Given the description of an element on the screen output the (x, y) to click on. 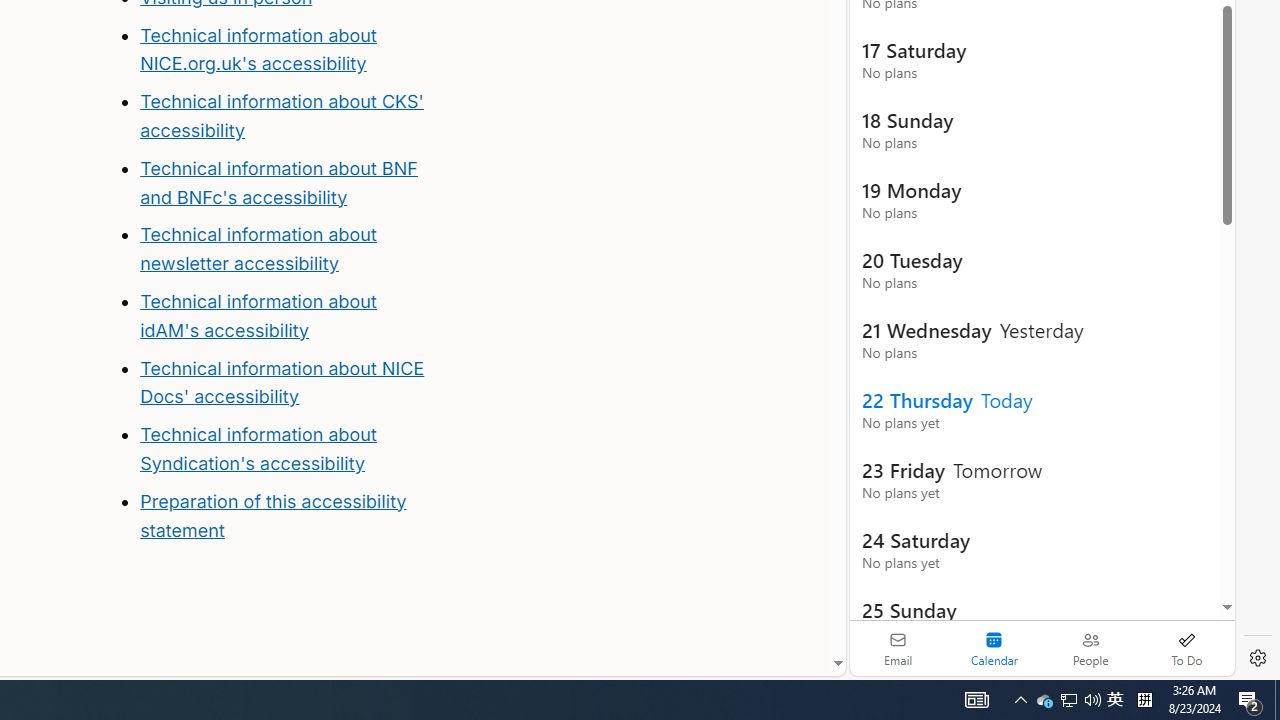
Technical information about CKS' accessibility (281, 115)
Email (898, 648)
Technical information about BNF and BNFc's accessibility (278, 182)
Selected calendar module. Date today is 22 (994, 648)
People (1090, 648)
To Do (1186, 648)
Preparation of this accessibility statement (273, 515)
